Given the description of an element on the screen output the (x, y) to click on. 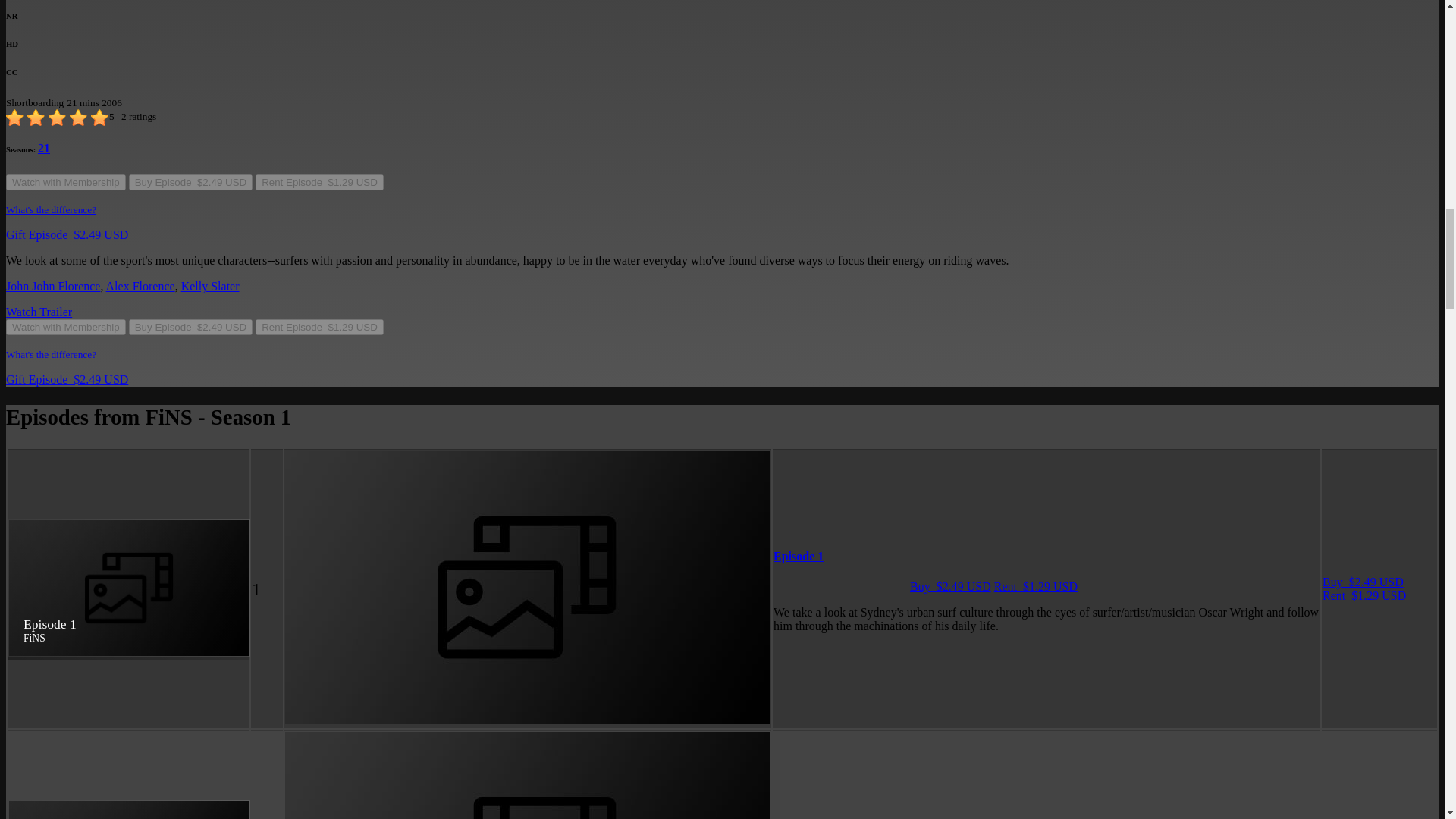
really like it (78, 18)
Episode  1 (358, 376)
hated it (14, 18)
Episode  4 (358, 682)
Episode  3 (358, 581)
Episode  5 (358, 784)
didn't like it (36, 18)
Watch with Membership (65, 84)
Episode  2 (358, 478)
loved it (99, 18)
liked it (57, 18)
